Given the description of an element on the screen output the (x, y) to click on. 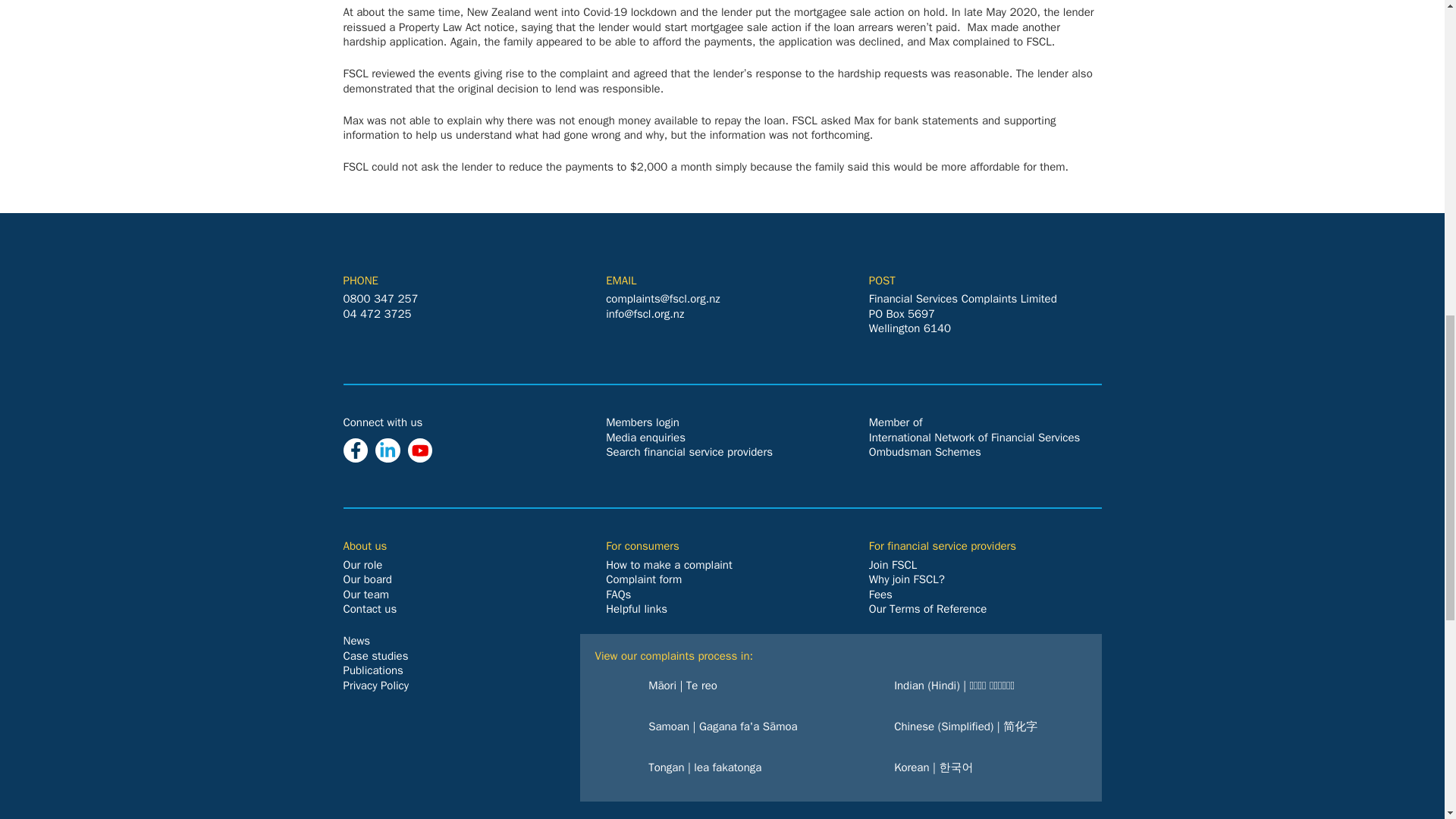
Our role (361, 564)
Search financial service providers (689, 451)
Media enquiries (645, 437)
Members login (642, 422)
Scroll back to top (1406, 720)
